Given the description of an element on the screen output the (x, y) to click on. 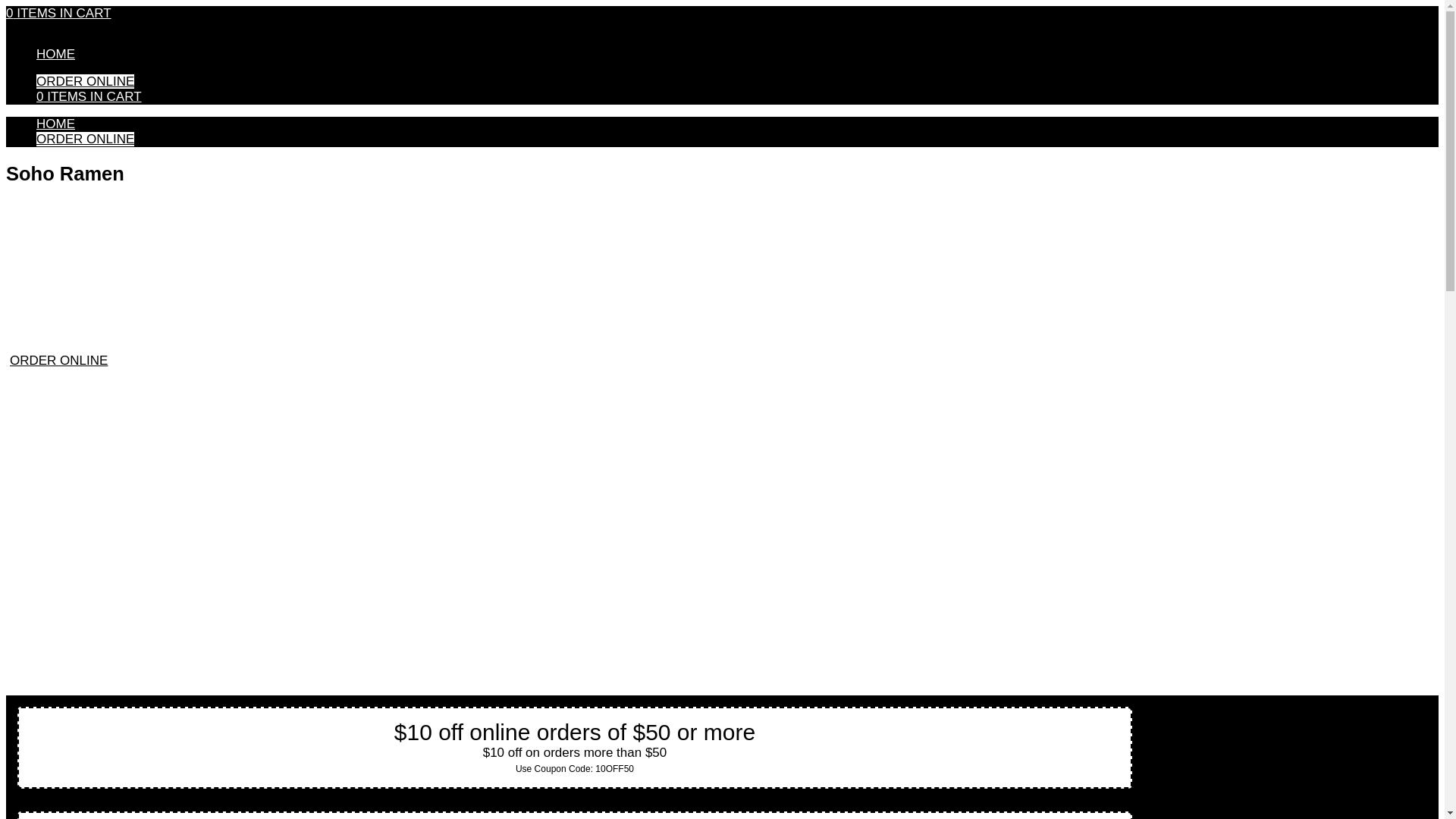
ORDER ONLINE (84, 81)
ORDER ONLINE (58, 359)
0 ITEMS IN CART (88, 96)
0 ITEMS IN CART (58, 12)
HOME (55, 53)
ORDER ONLINE (84, 138)
HOME (55, 124)
